Given the description of an element on the screen output the (x, y) to click on. 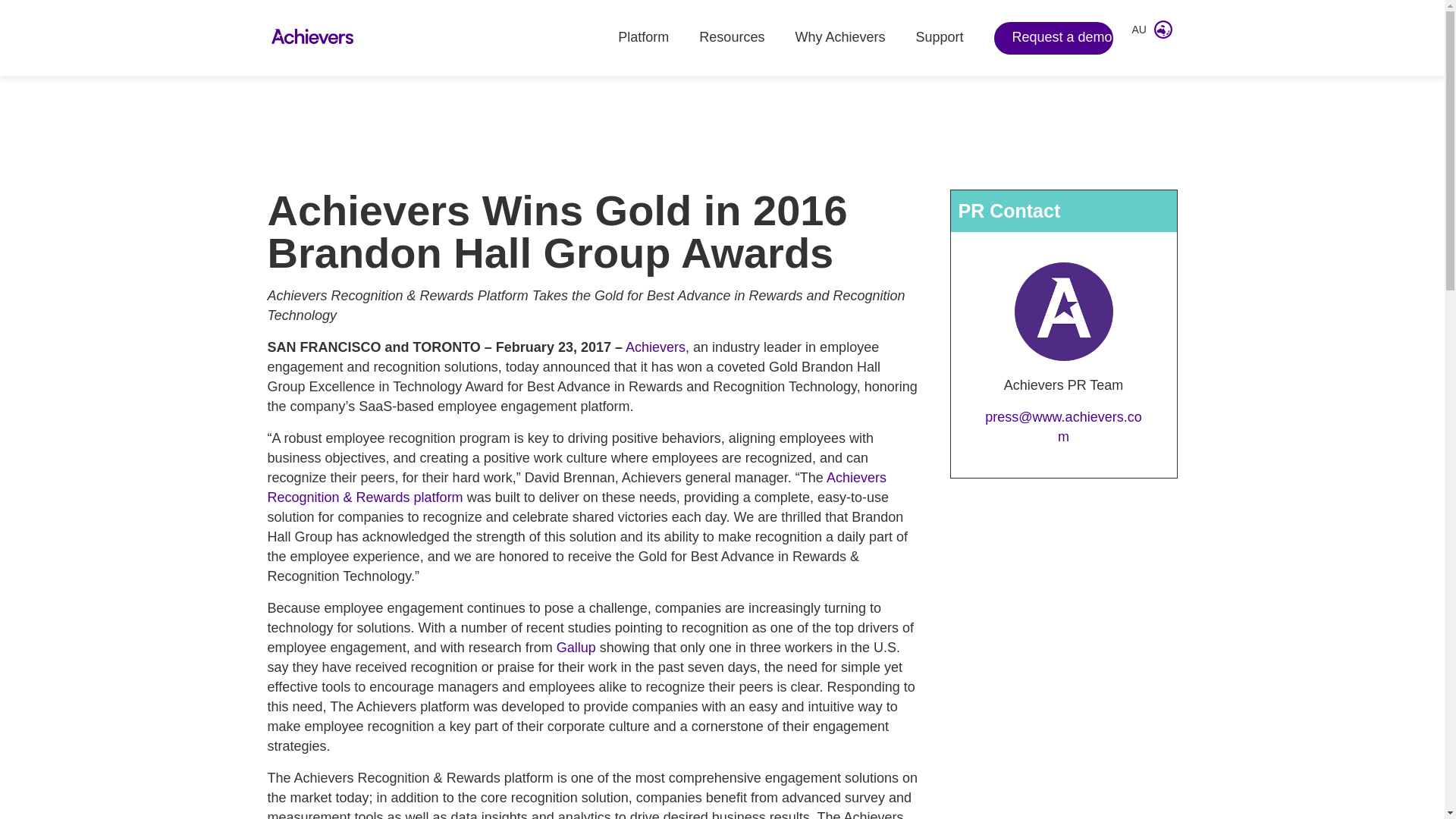
Resources (731, 38)
Platform (643, 38)
